Given the description of an element on the screen output the (x, y) to click on. 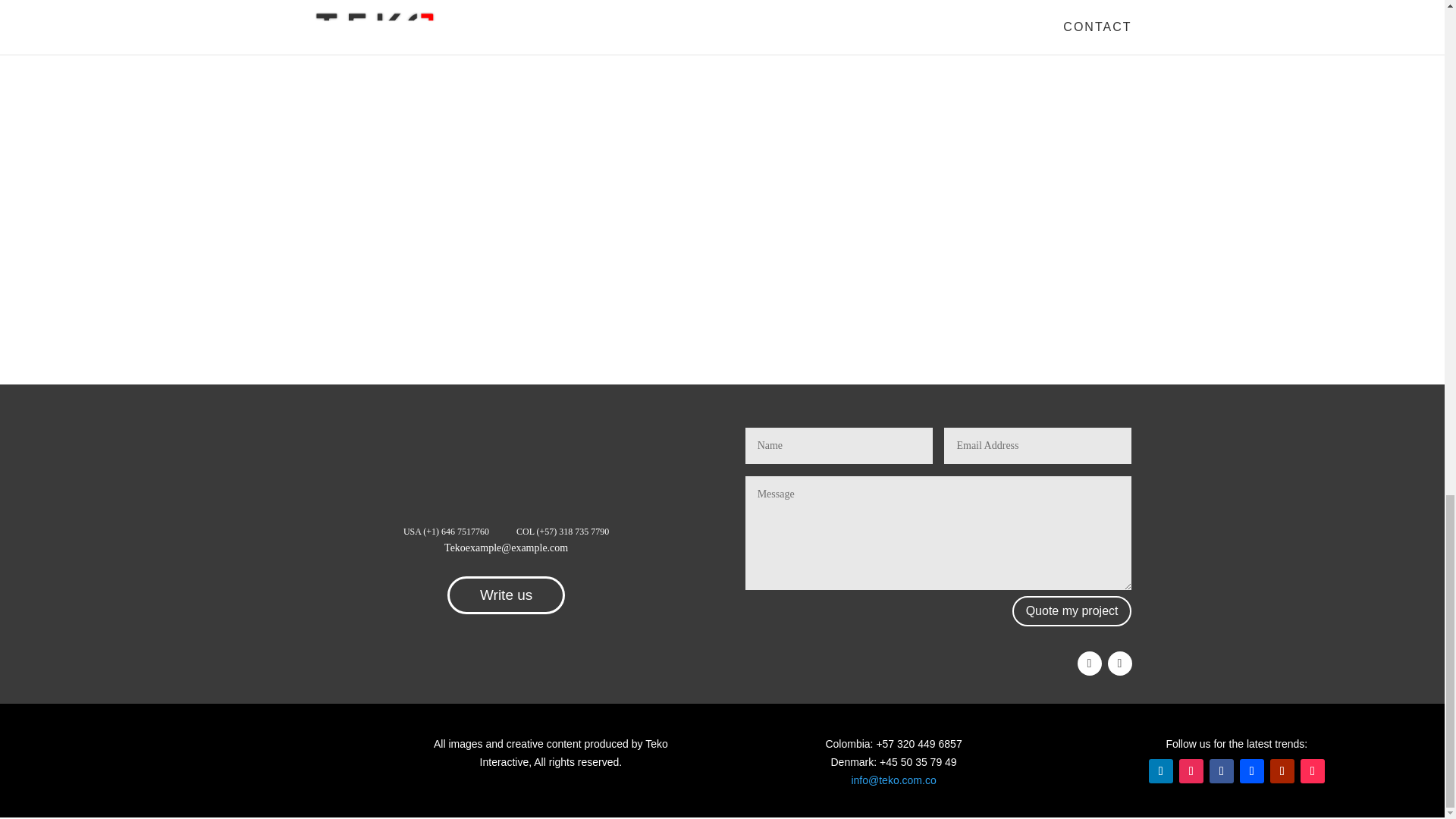
Follow on Facebook (1088, 663)
Follow on Instagram (1191, 770)
Follow on Facebook (1221, 770)
Follow on Youtube (1281, 770)
Follow on TikTok (1312, 770)
Follow on Instagram (1118, 663)
Write us (505, 595)
Follow on LinkedIn (1160, 770)
Follow on Behance (1251, 770)
Quote my project (1071, 611)
